Given the description of an element on the screen output the (x, y) to click on. 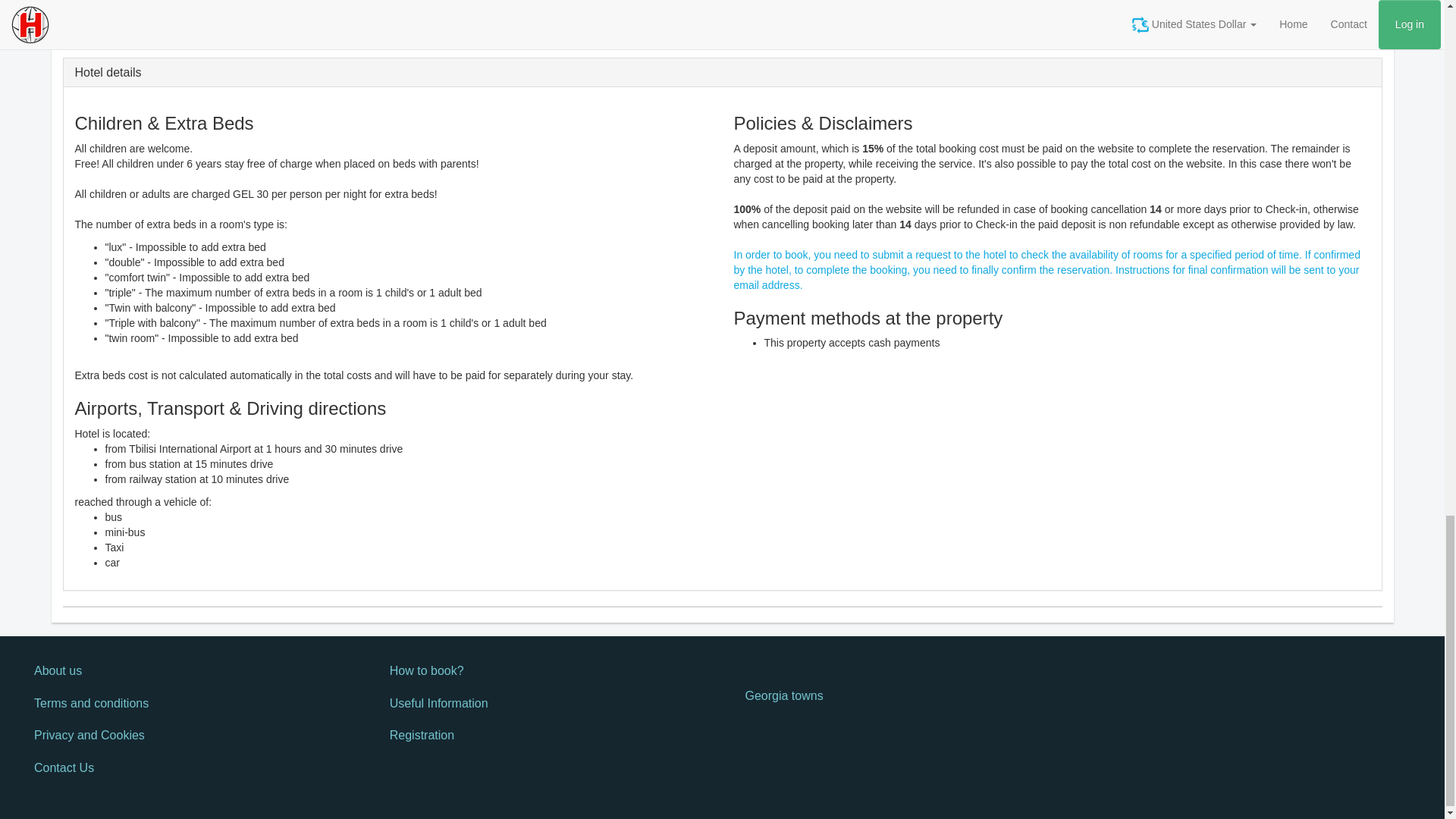
Terms and conditions (189, 703)
Registration (544, 735)
About us (189, 671)
Useful Information (544, 703)
Privacy and Cookies (189, 735)
Georgia towns (900, 696)
How to book? (544, 671)
Contact Us (189, 768)
